Given the description of an element on the screen output the (x, y) to click on. 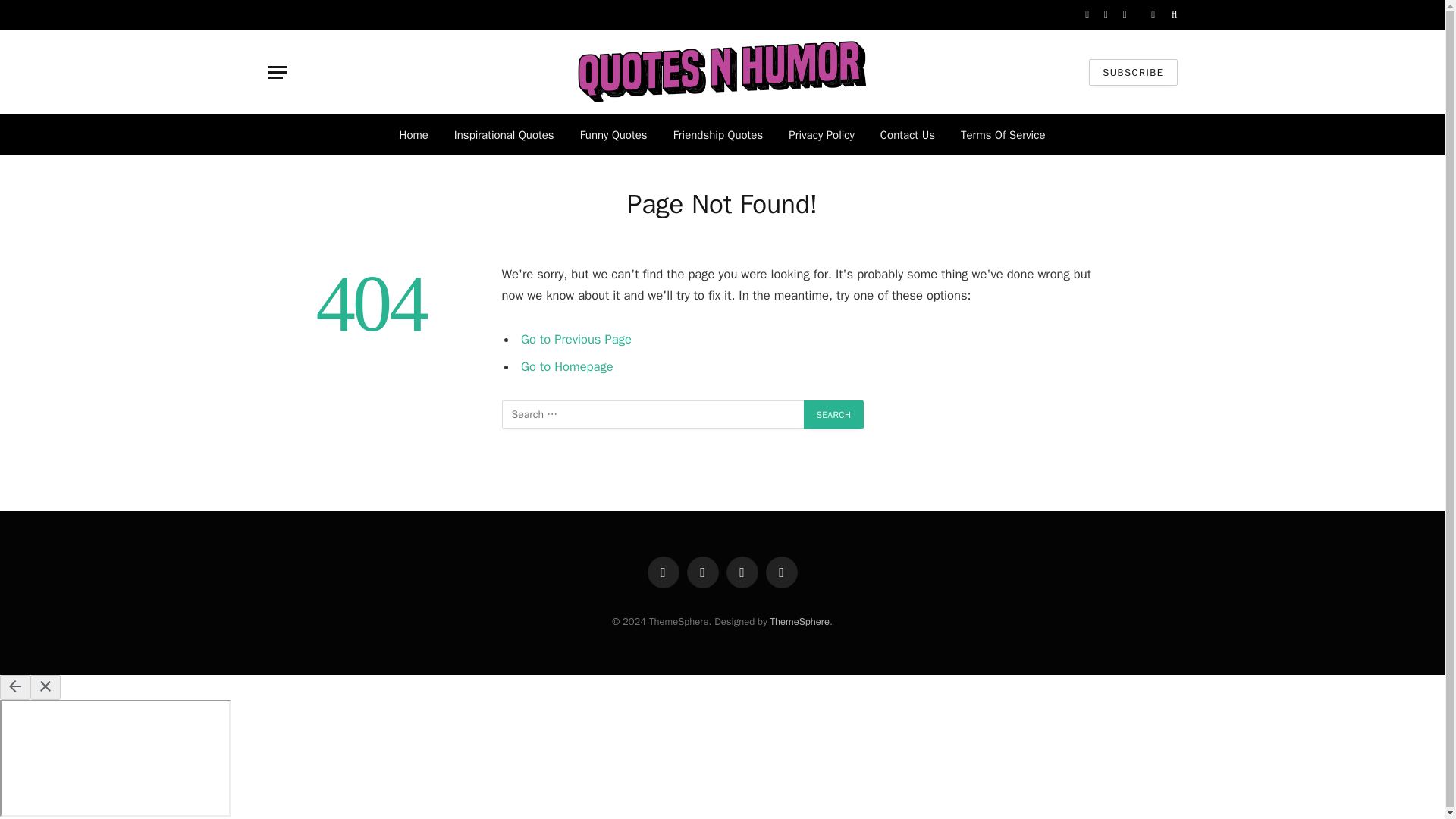
Terms Of Service (1002, 134)
Privacy Policy (821, 134)
Facebook (1087, 15)
Facebook (663, 572)
Search (1173, 15)
Pinterest (781, 572)
Contact Us (907, 134)
Home (414, 134)
ThemeSphere (799, 621)
Search (833, 414)
SUBSCRIBE (1132, 71)
Go to Homepage (566, 365)
Instagram (742, 572)
Instagram (1125, 15)
Search (833, 414)
